Given the description of an element on the screen output the (x, y) to click on. 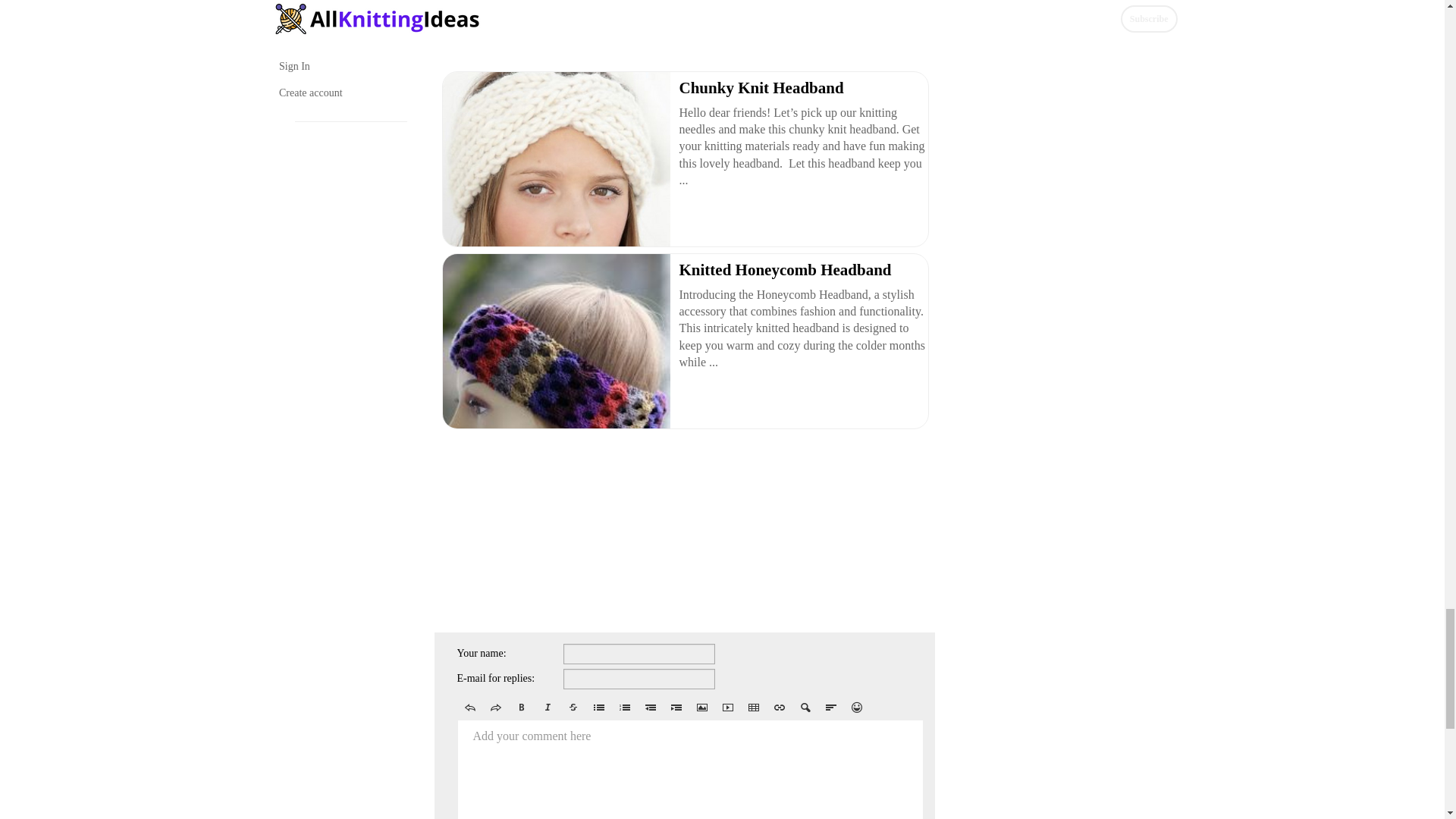
Bold (521, 707)
Italic (546, 707)
Deleted (572, 707)
Undo (469, 707)
Redo (494, 707)
